Given the description of an element on the screen output the (x, y) to click on. 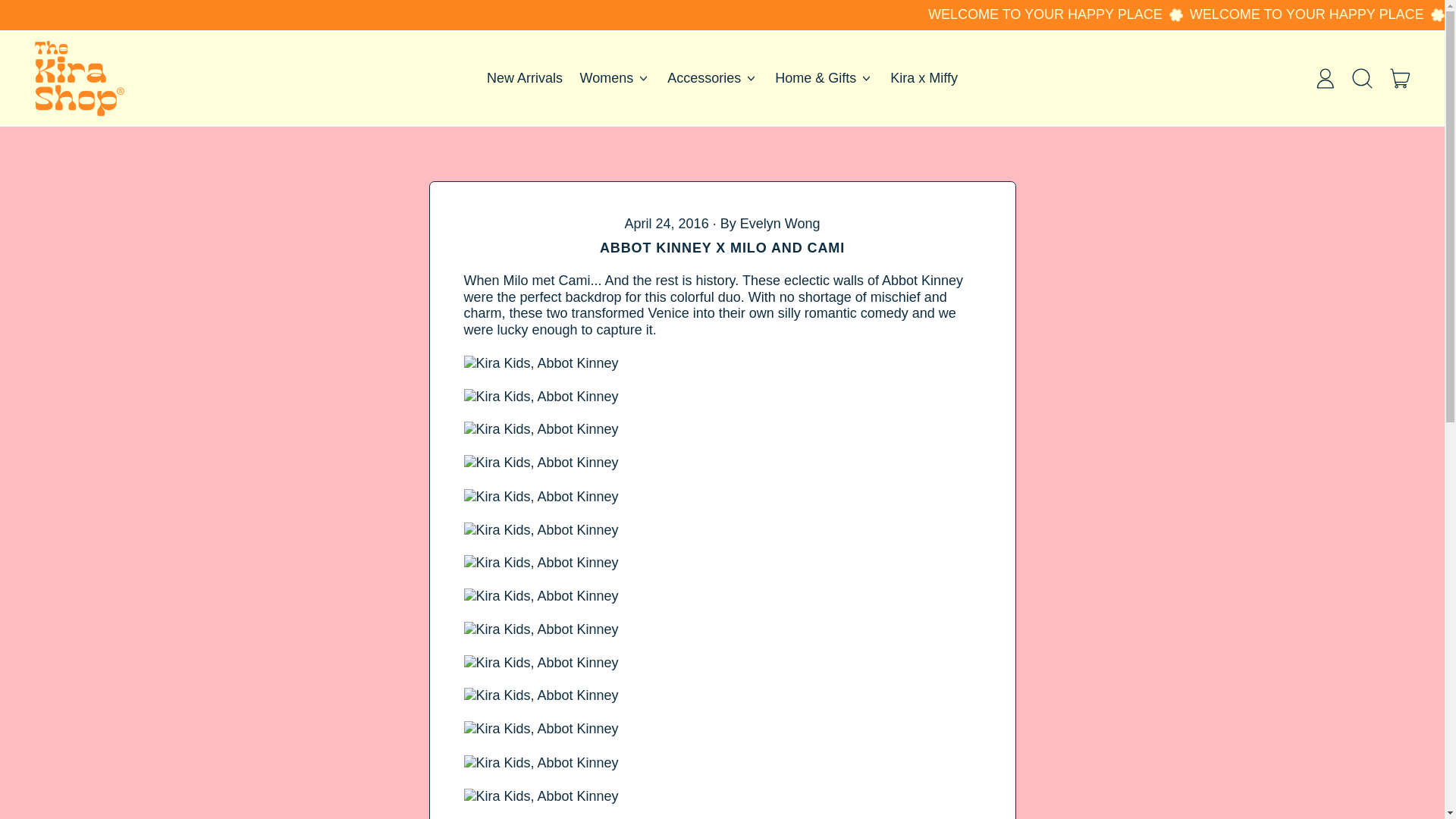
Womens (614, 78)
Kira x Miffy (924, 78)
New Arrivals (525, 78)
Log in (1324, 77)
Search our site (1362, 77)
Accessories (713, 78)
